Given the description of an element on the screen output the (x, y) to click on. 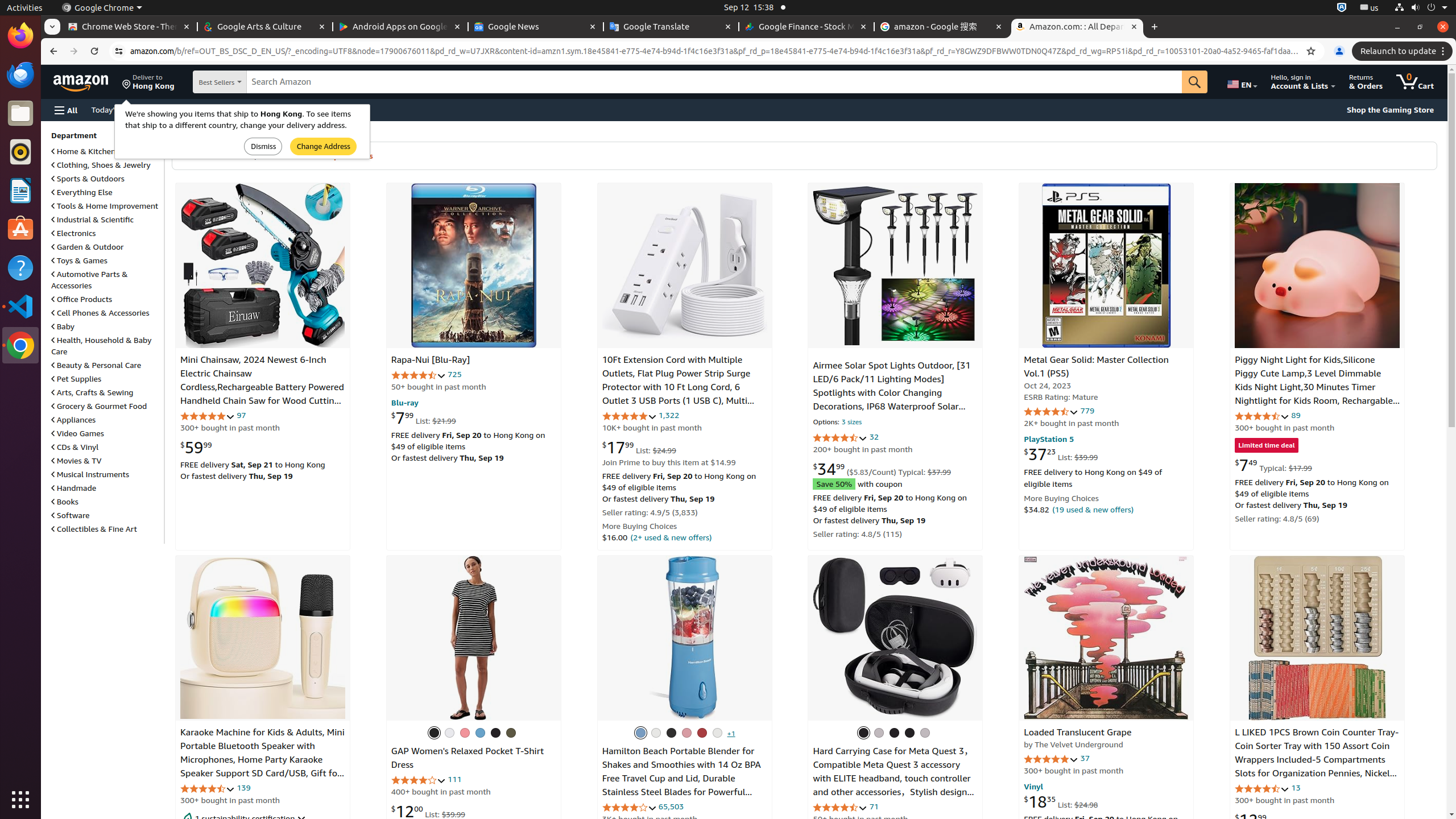
:1.72/StatusNotifierItem Element type: menu (1341, 7)
L LIKED 1PCS Brown Coin Counter Tray-Coin Sorter Tray with 150 Assort Coin Wrappers Included-5 Compartments Slots for Orga... Element type: link (1317, 637)
139 Element type: link (243, 787)
Coral Element type: push-button (686, 732)
Bookmark this tab Element type: push-button (1310, 51)
